Given the description of an element on the screen output the (x, y) to click on. 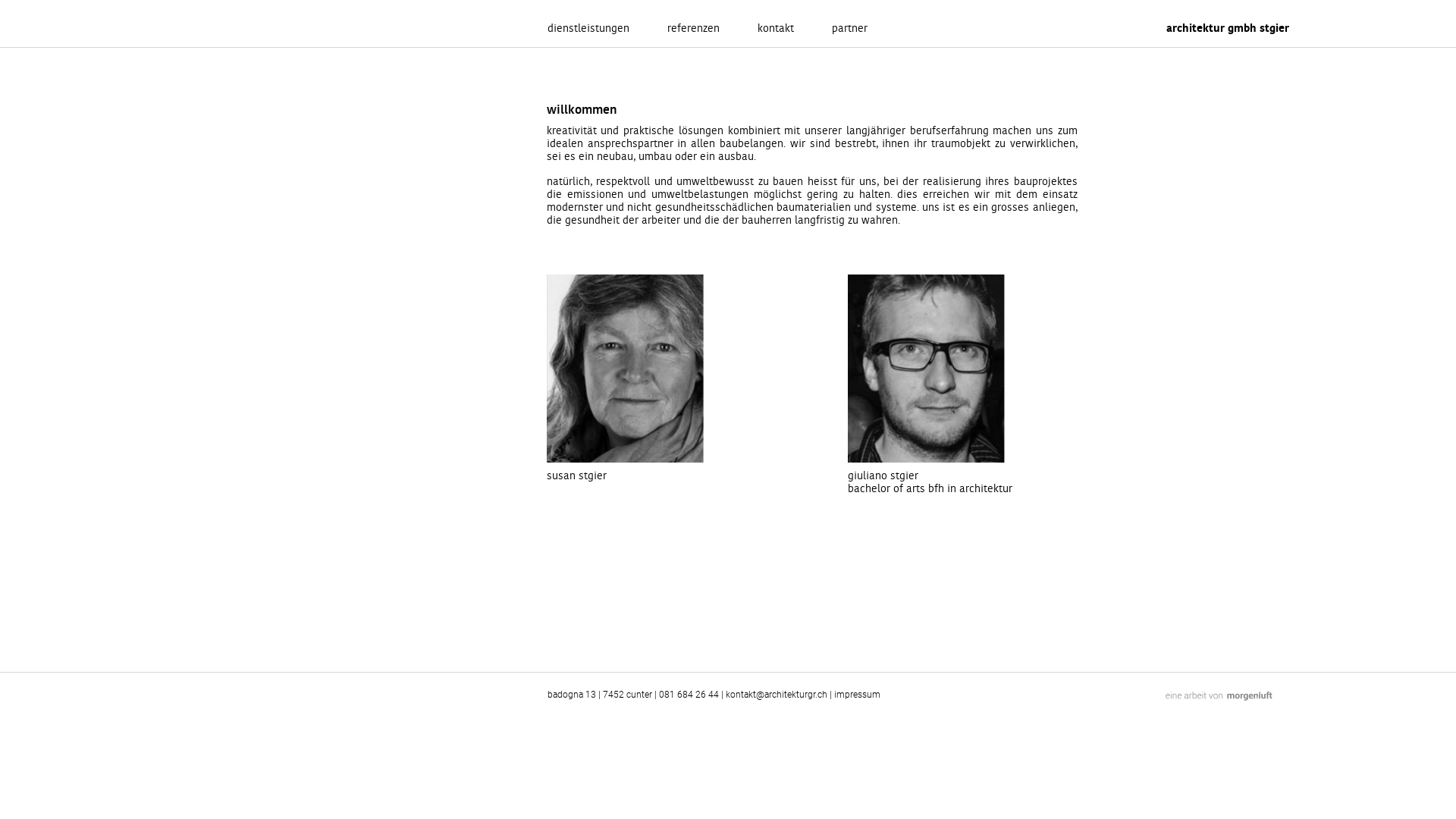
kontakt Element type: text (775, 28)
referenzen Element type: text (693, 28)
dienstleistungen Element type: text (588, 28)
architektur gmbh stgier Element type: text (1296, 21)
impressum Element type: text (857, 694)
partner Element type: text (849, 28)
kontakt@architekturgr.ch Element type: text (776, 694)
susan stgier Element type: text (660, 378)
